Given the description of an element on the screen output the (x, y) to click on. 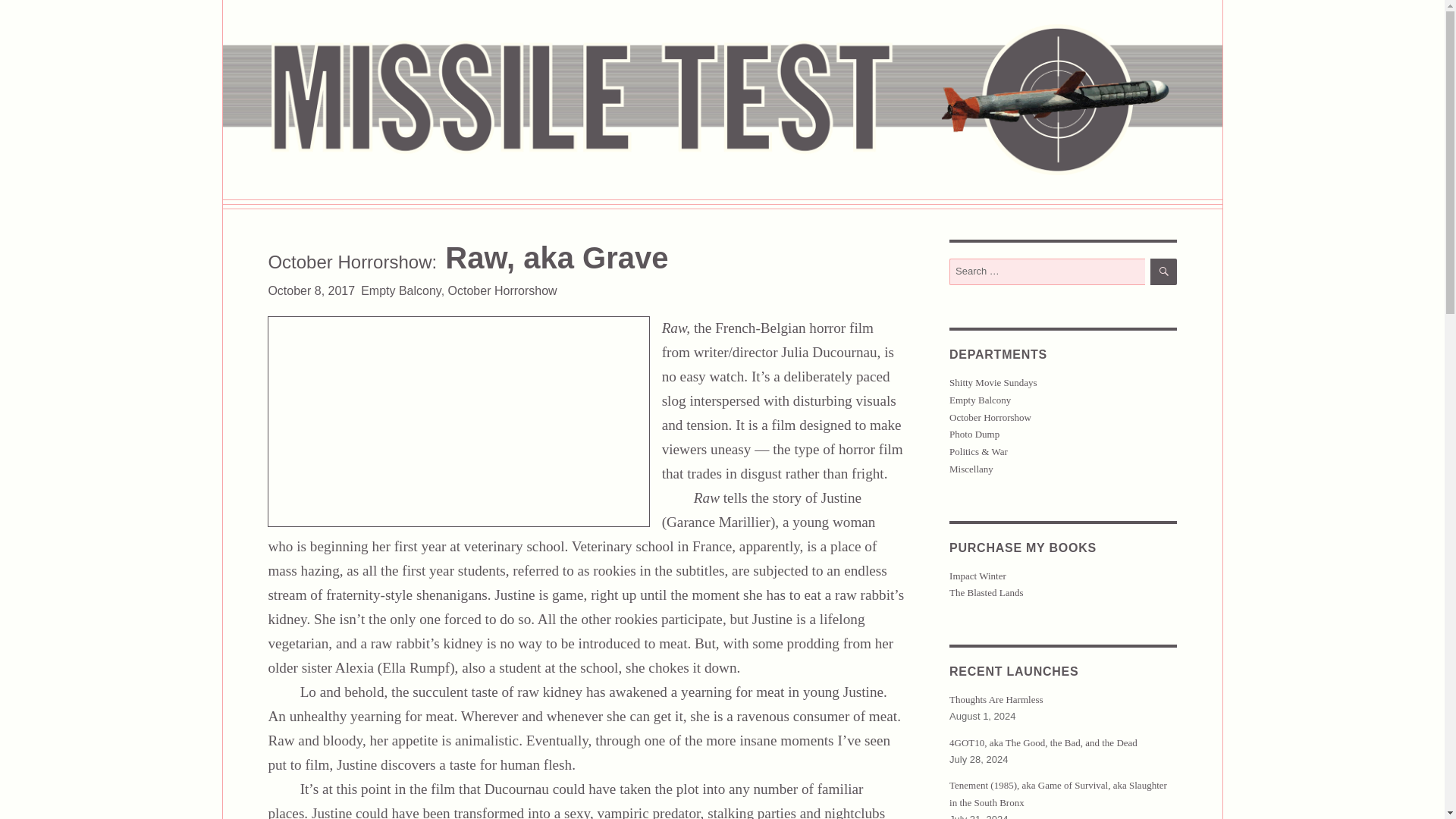
Impact Winter (977, 575)
October Horrorshow (989, 417)
SEARCH (1163, 271)
October Horrorshow (502, 290)
The Blasted Lands (986, 592)
Empty Balcony (401, 290)
4GOT10, aka The Good, the Bad, and the Dead (1043, 742)
Thoughts Are Harmless (995, 699)
Shitty Movie Sundays (992, 382)
Miscellany (970, 469)
